Given the description of an element on the screen output the (x, y) to click on. 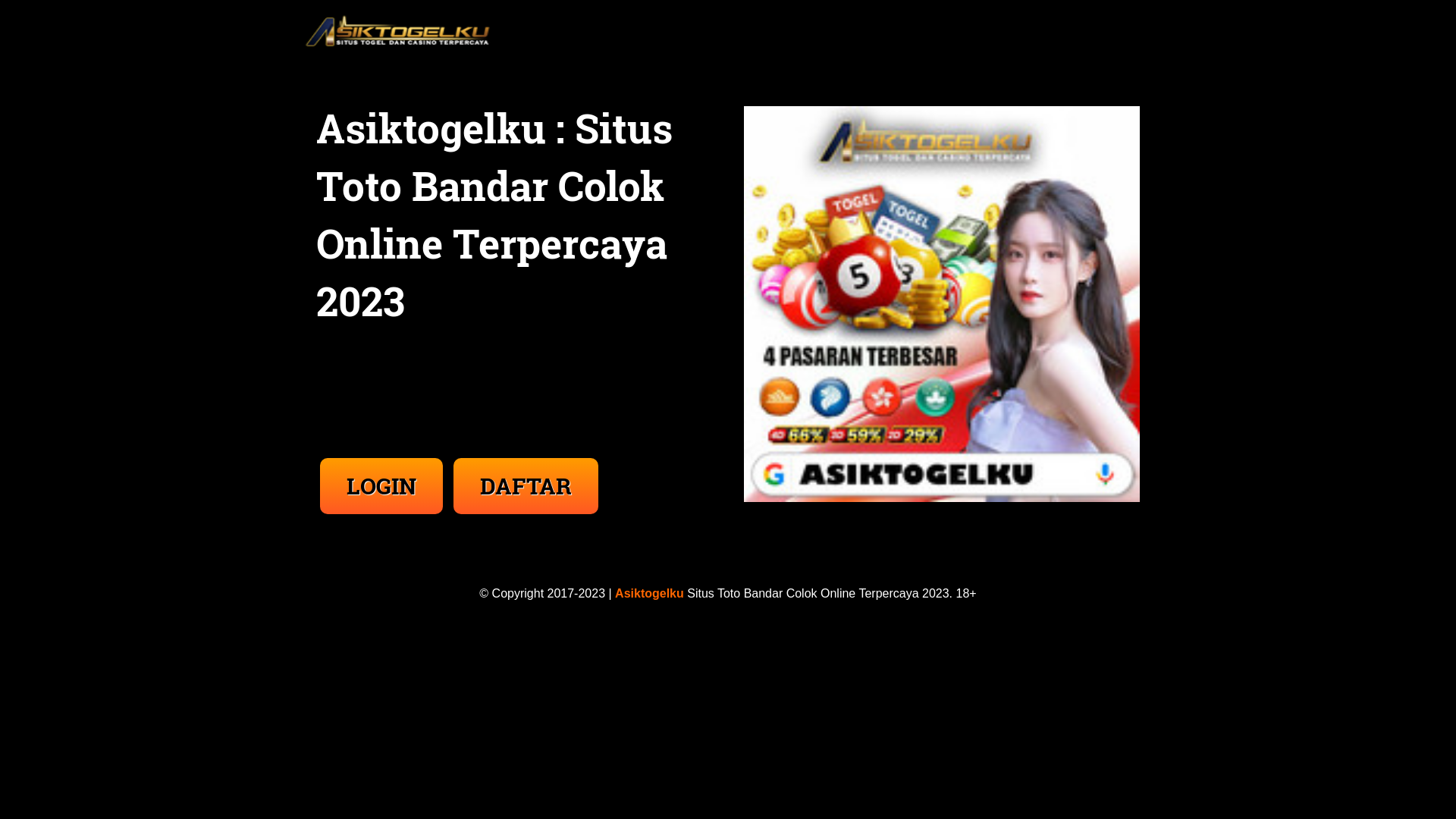
LOGIN Element type: text (382, 469)
DAFTAR Element type: text (525, 486)
LOGIN Element type: text (381, 486)
DAFTAR Element type: text (525, 469)
Asiktogelku Element type: text (649, 592)
